Given the description of an element on the screen output the (x, y) to click on. 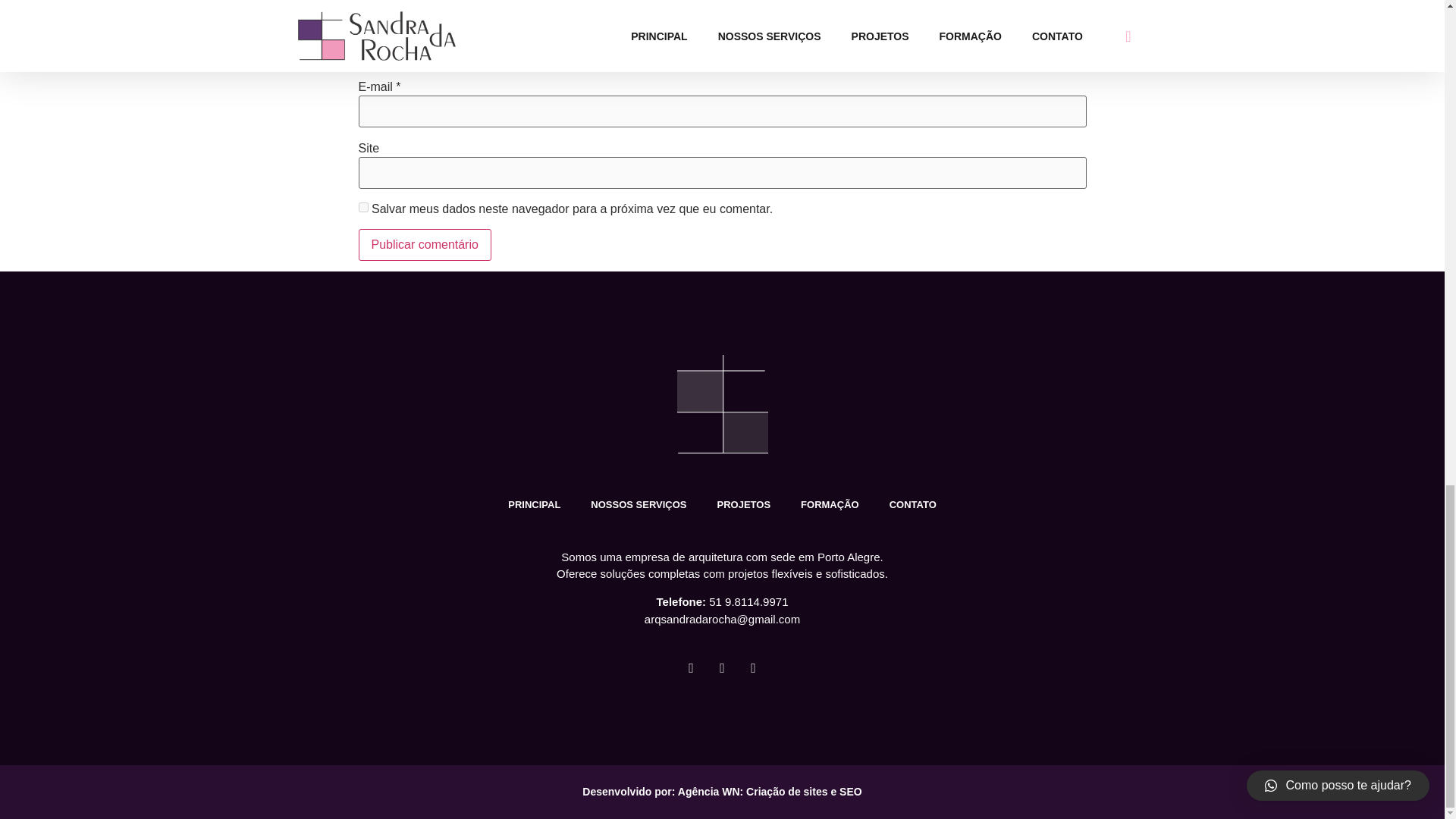
SEO (850, 791)
CONTATO (913, 504)
PRINCIPAL (534, 504)
PROJETOS (743, 504)
logo-favicon (722, 403)
yes (363, 207)
51 9.8114.9971 (748, 601)
